Given the description of an element on the screen output the (x, y) to click on. 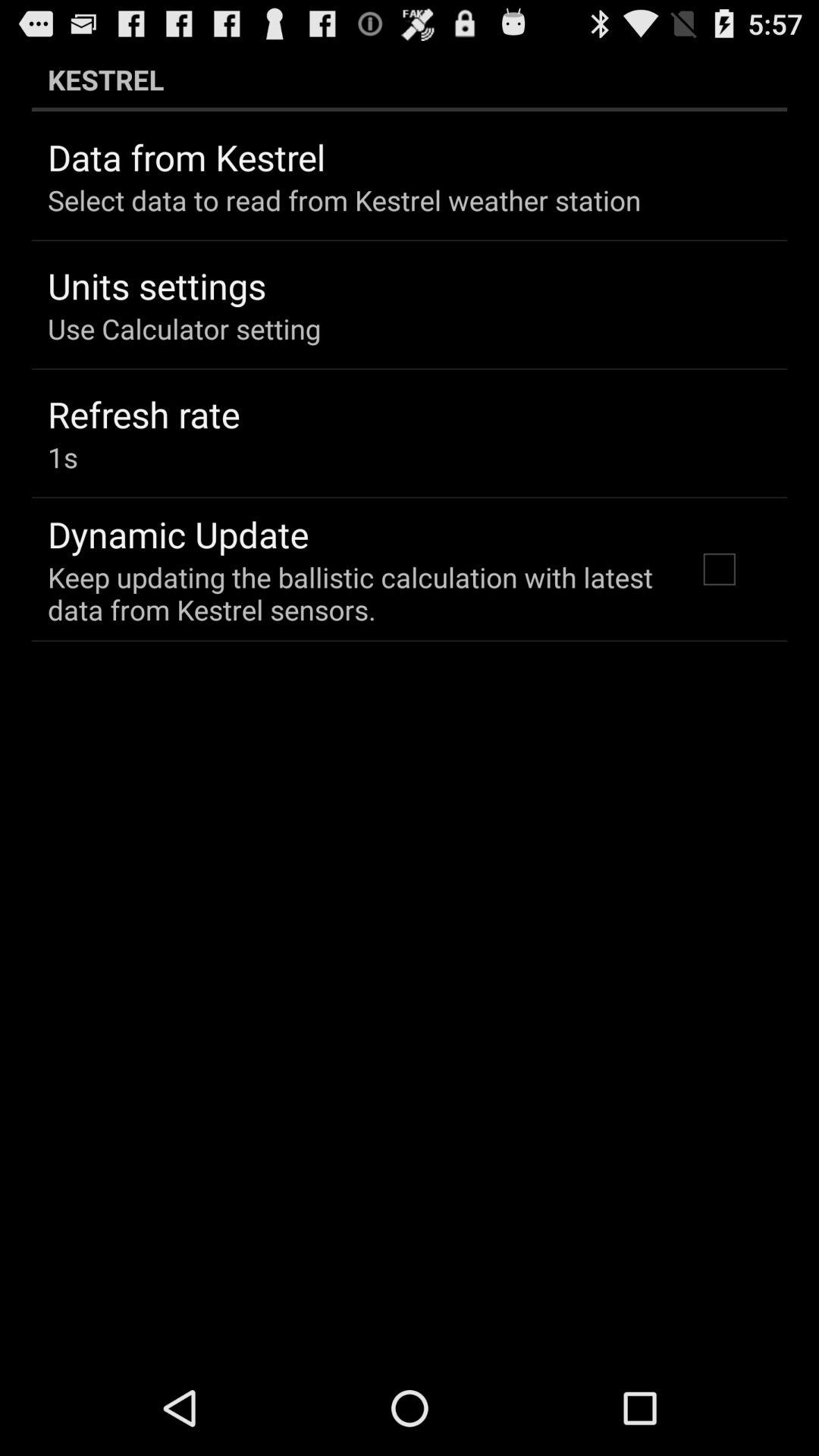
launch icon below refresh rate app (62, 457)
